Given the description of an element on the screen output the (x, y) to click on. 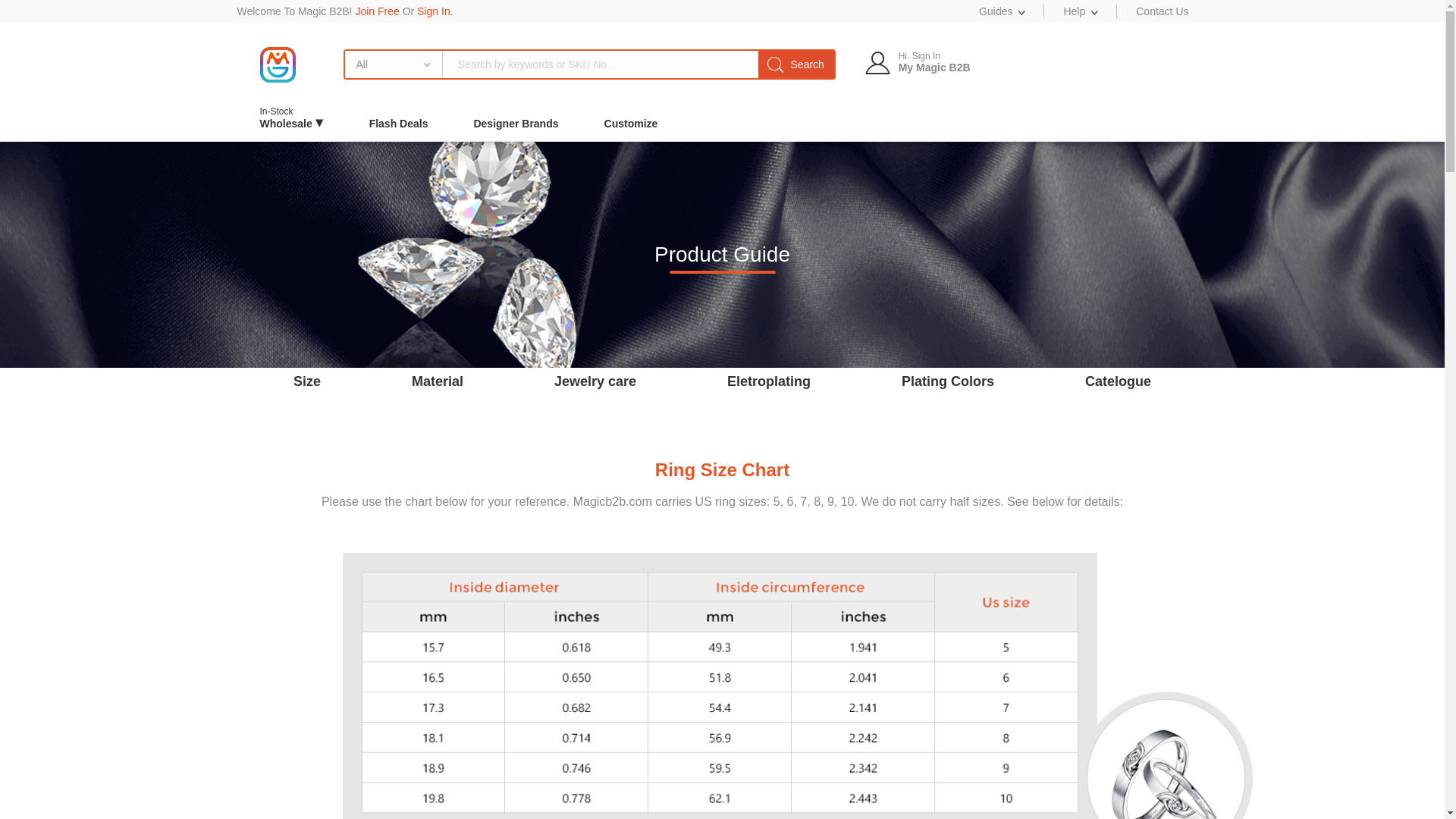
Join Free (376, 10)
wholesale fashion jewelry (277, 64)
Guides (1001, 11)
Contact Us (1161, 11)
Sign In (432, 10)
Search (796, 63)
Search (290, 123)
Search (796, 63)
Help (796, 63)
